Given the description of an element on the screen output the (x, y) to click on. 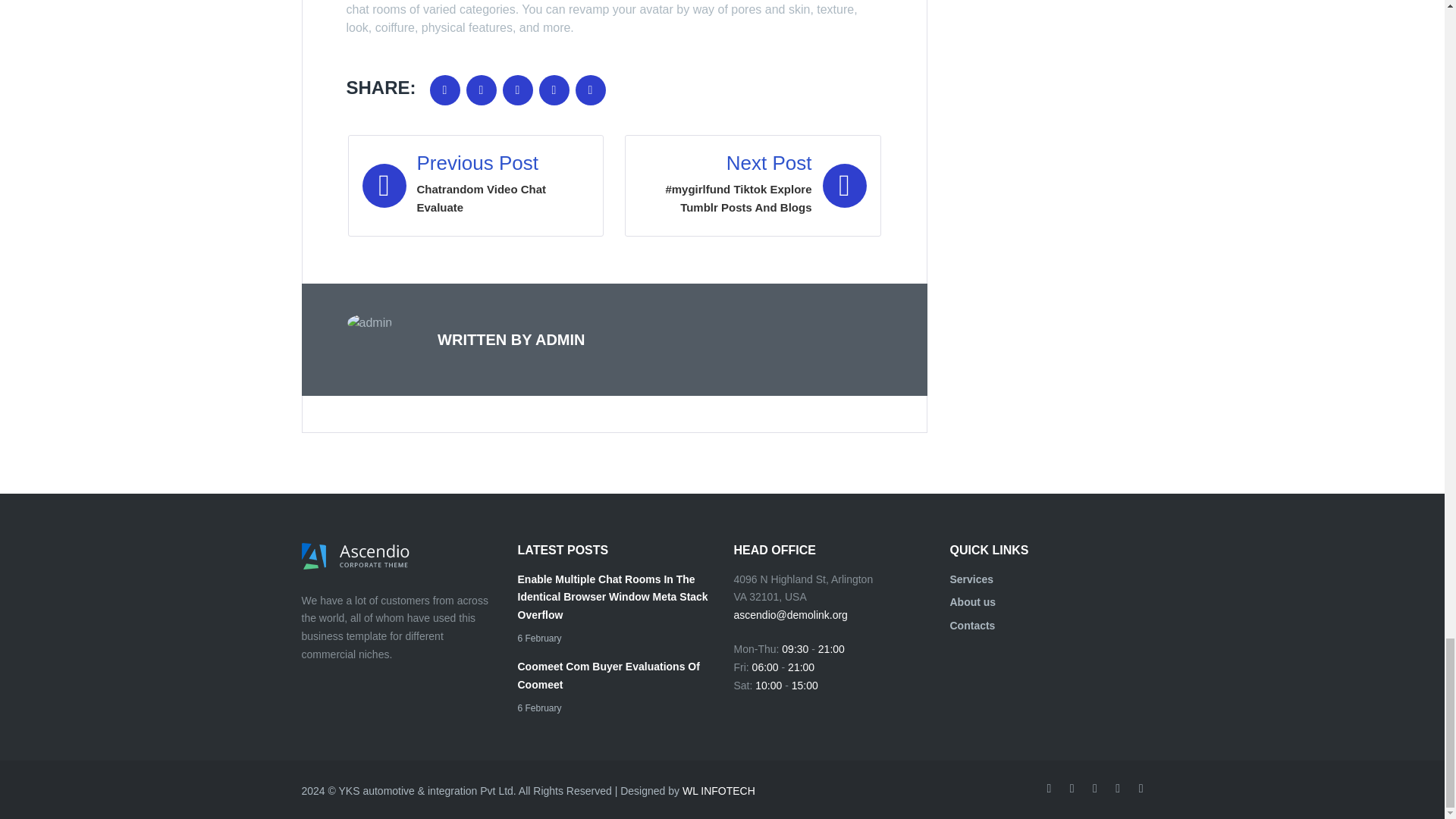
Posts by admin (560, 339)
Share on Facebook (444, 90)
Share on Pinterest (590, 90)
Share on Twitter (480, 90)
Share on LinkedIn (553, 90)
ADMIN (475, 185)
